Given the description of an element on the screen output the (x, y) to click on. 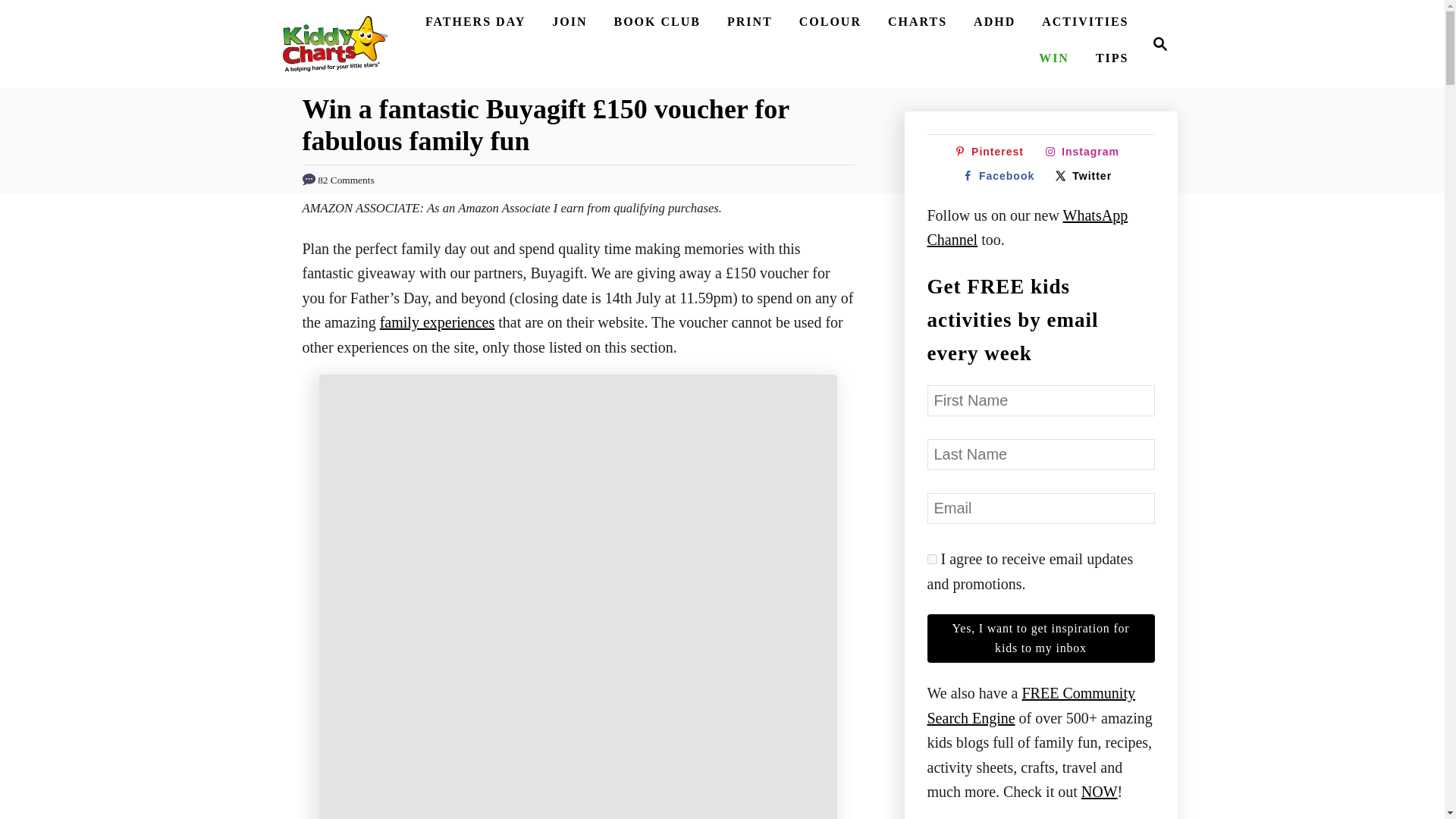
CHARTS (917, 21)
Follow on Instagram (1086, 151)
ACTIVITIES (1084, 21)
BOOK CLUB (657, 21)
COLOUR (830, 21)
1 (931, 559)
Follow on Pinterest (992, 151)
KiddyCharts (1155, 43)
ADHD (334, 43)
